Given the description of an element on the screen output the (x, y) to click on. 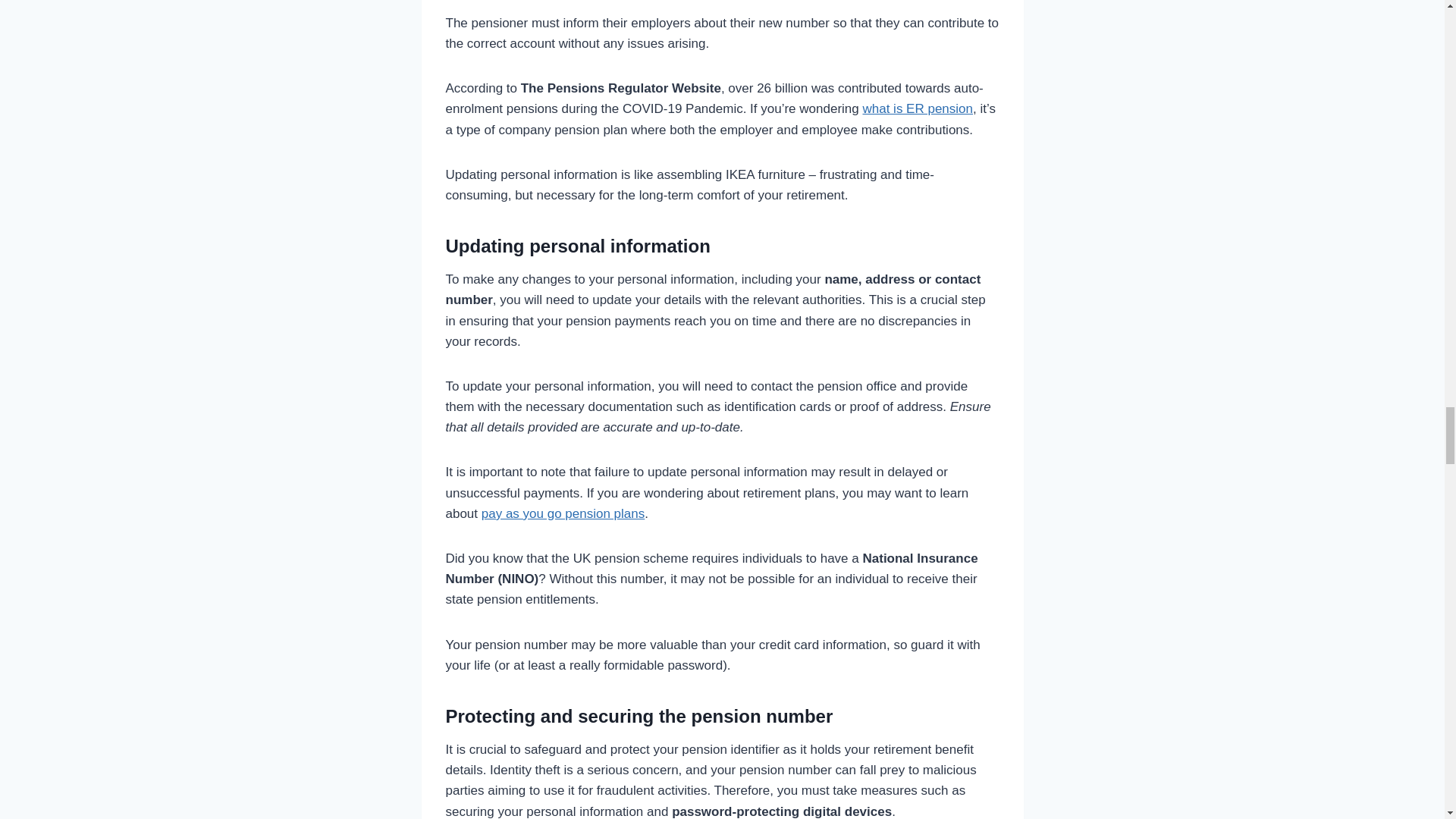
pay as you go pension plans (563, 513)
what is ER pension (916, 108)
